Given the description of an element on the screen output the (x, y) to click on. 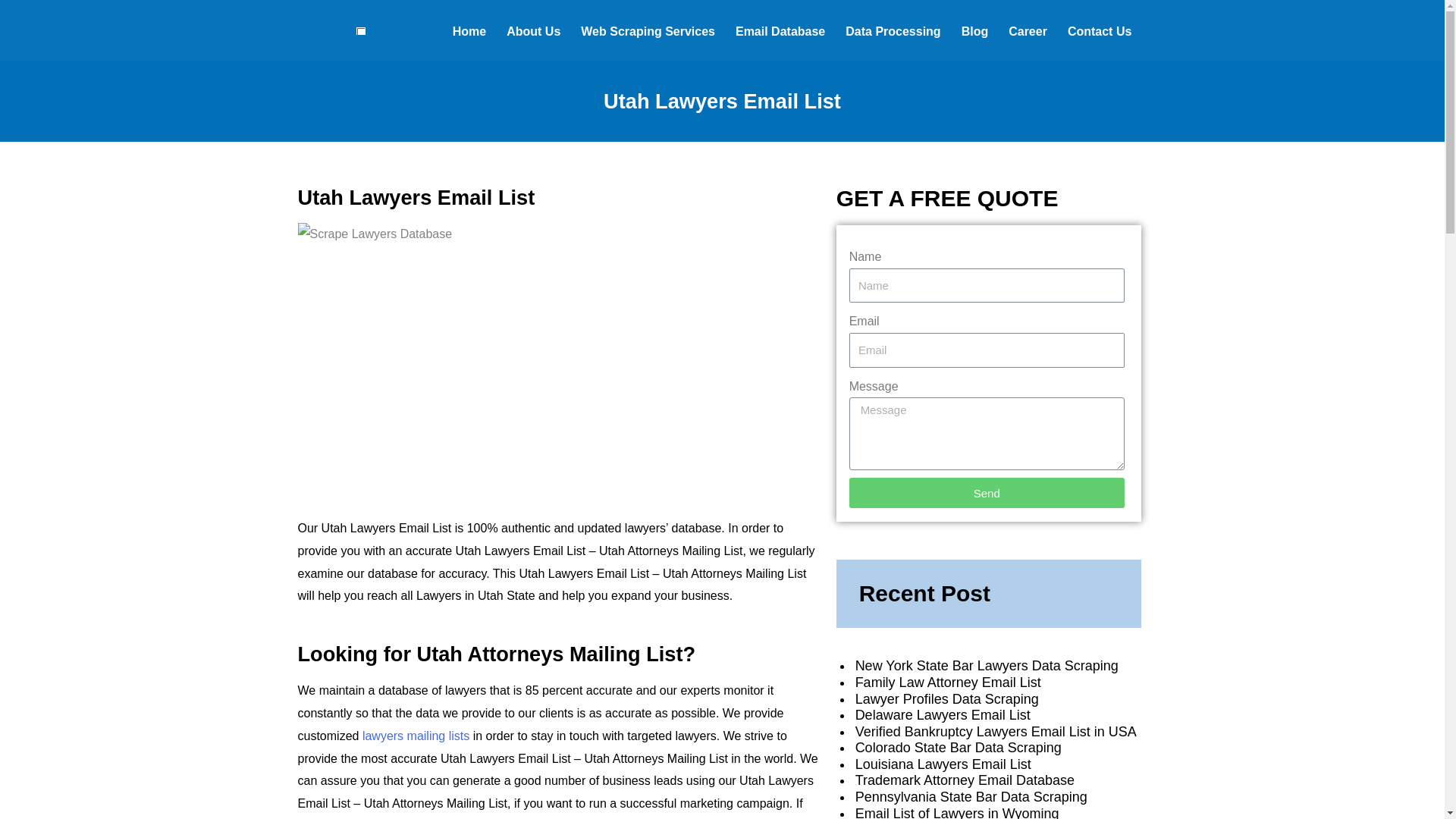
Web Scraping Services (647, 31)
About Us (533, 31)
Blog (975, 31)
Career (1027, 31)
Contact Us (1099, 31)
Email Database (779, 31)
lawyers mailing lists (415, 735)
Data Processing (892, 31)
Home (469, 31)
